Given the description of an element on the screen output the (x, y) to click on. 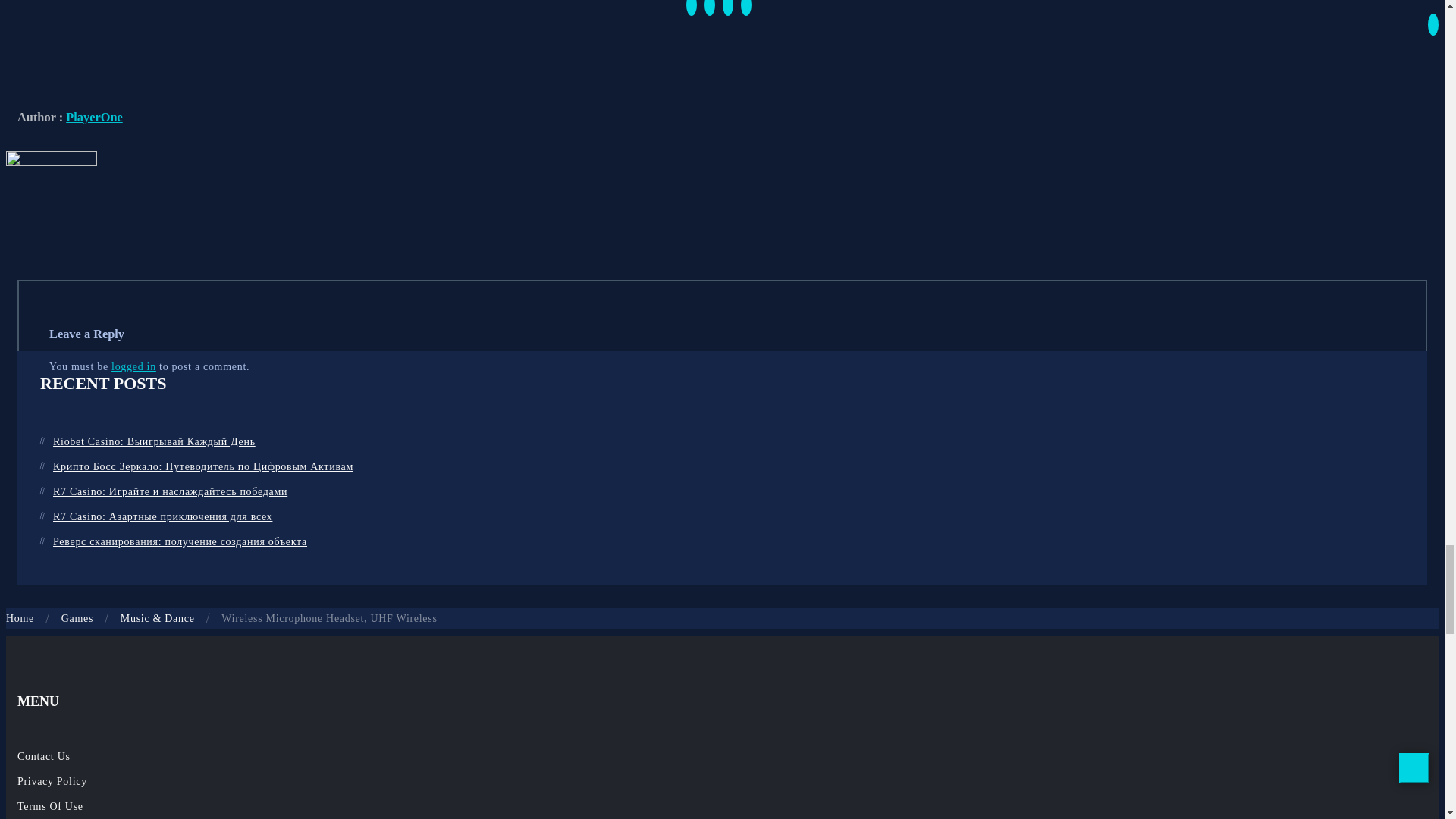
Home (19, 618)
Wireless Microphone Headset, UHF Wireless (328, 618)
